Given the description of an element on the screen output the (x, y) to click on. 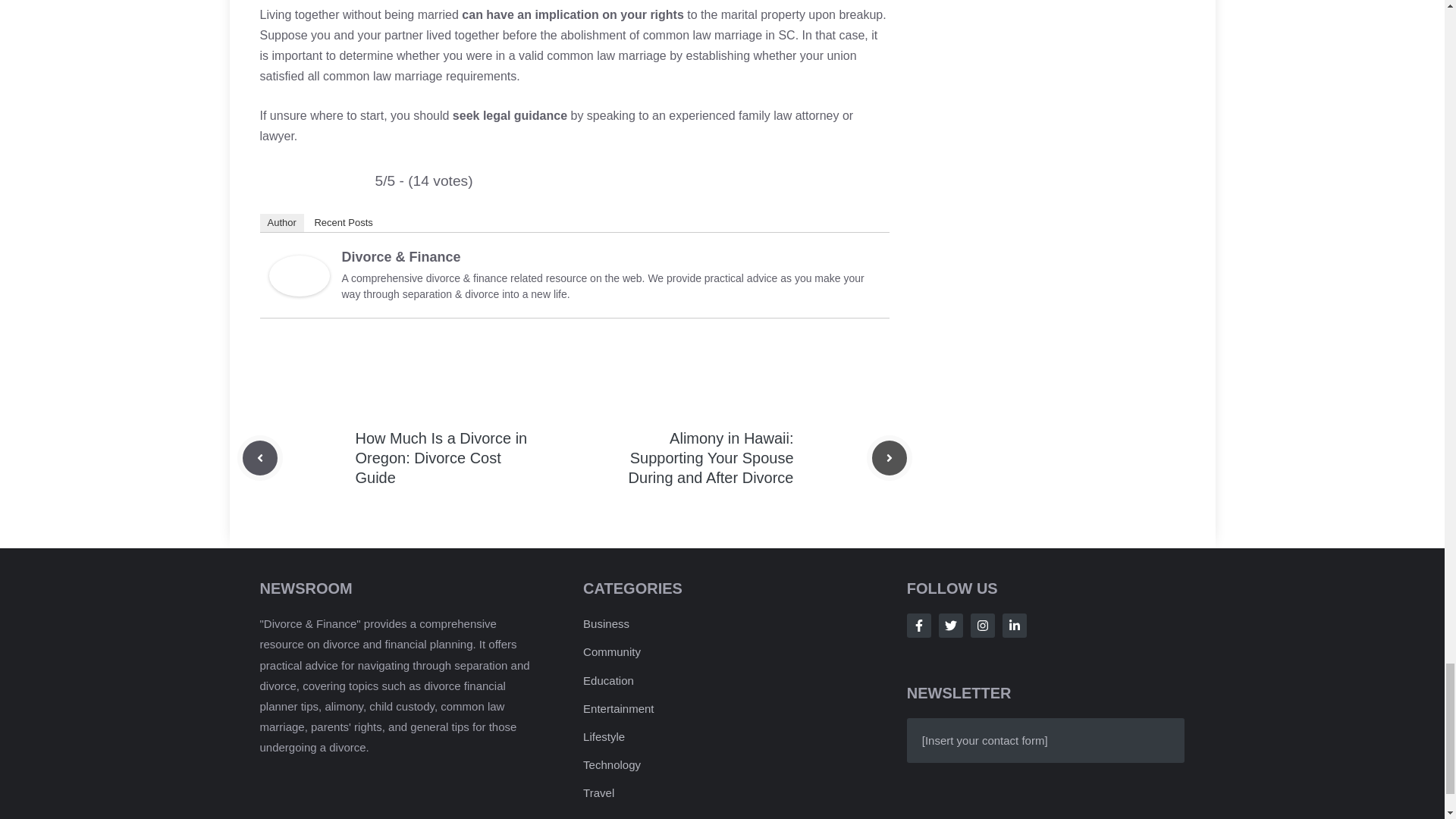
How Much Is a Divorce in Oregon: Divorce Cost Guide (441, 457)
Recent Posts (342, 222)
Author (280, 222)
